Given the description of an element on the screen output the (x, y) to click on. 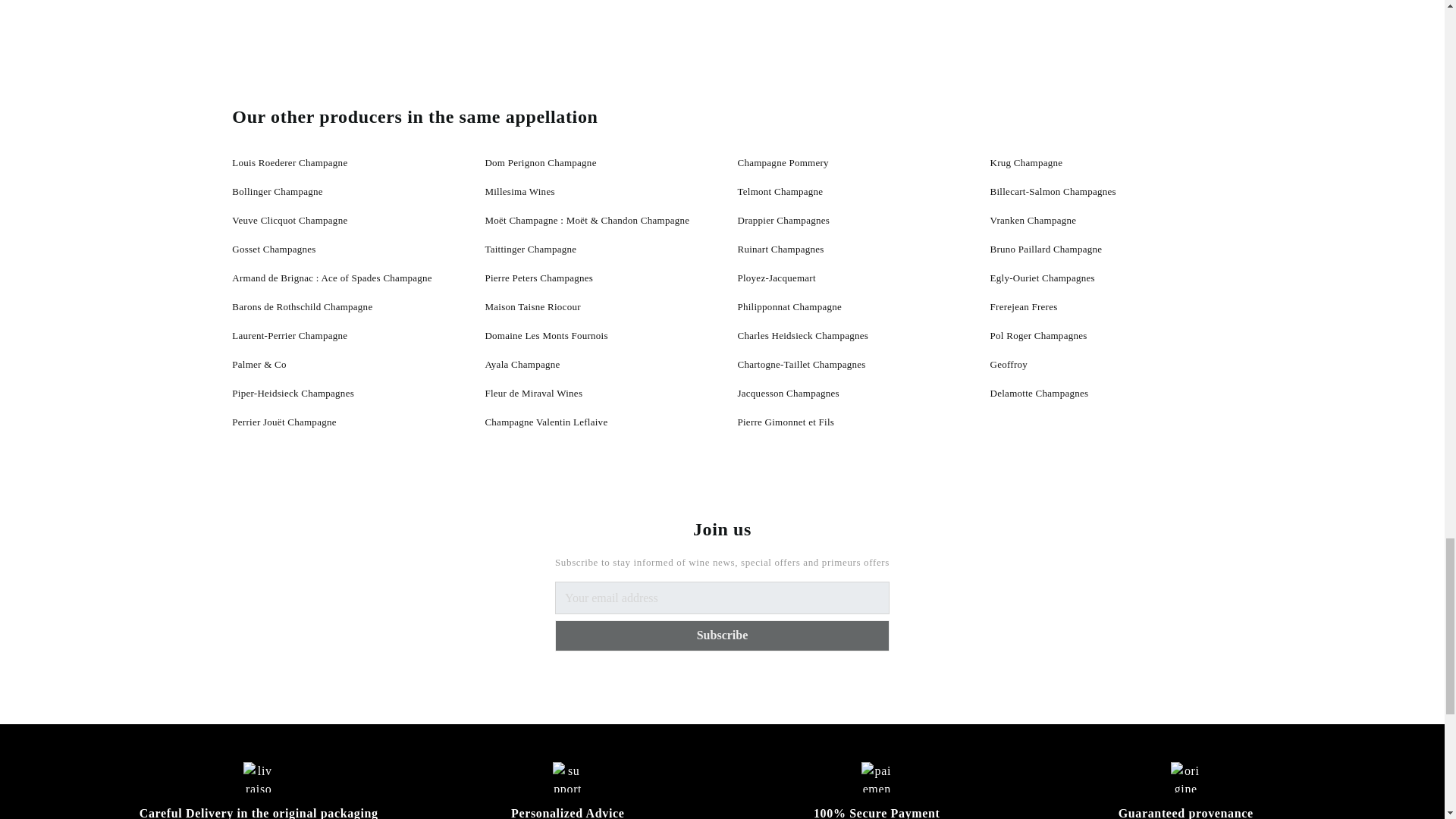
E-mail (721, 597)
